Given the description of an element on the screen output the (x, y) to click on. 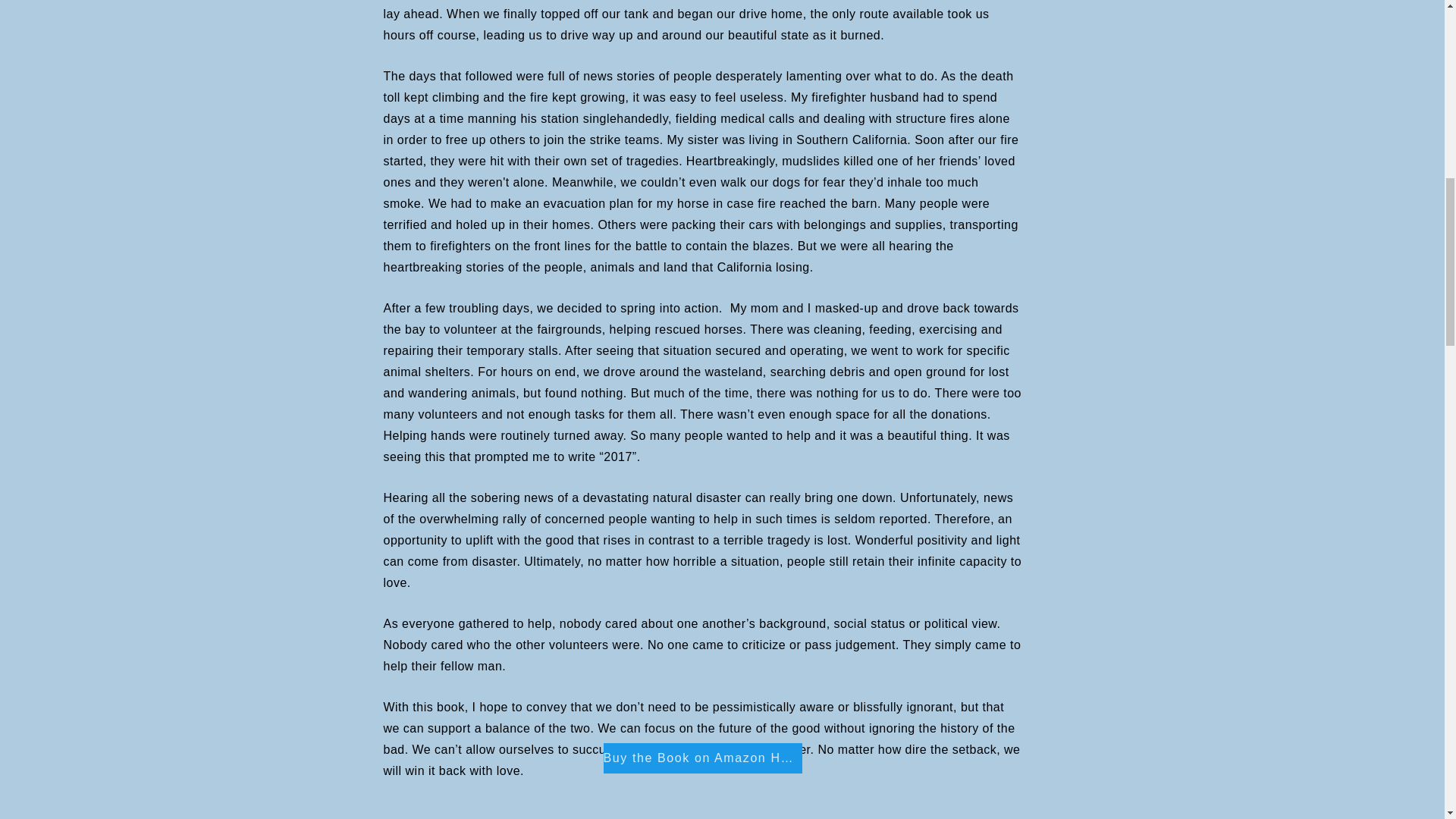
Buy the Book on Amazon Here! (703, 757)
